Given the description of an element on the screen output the (x, y) to click on. 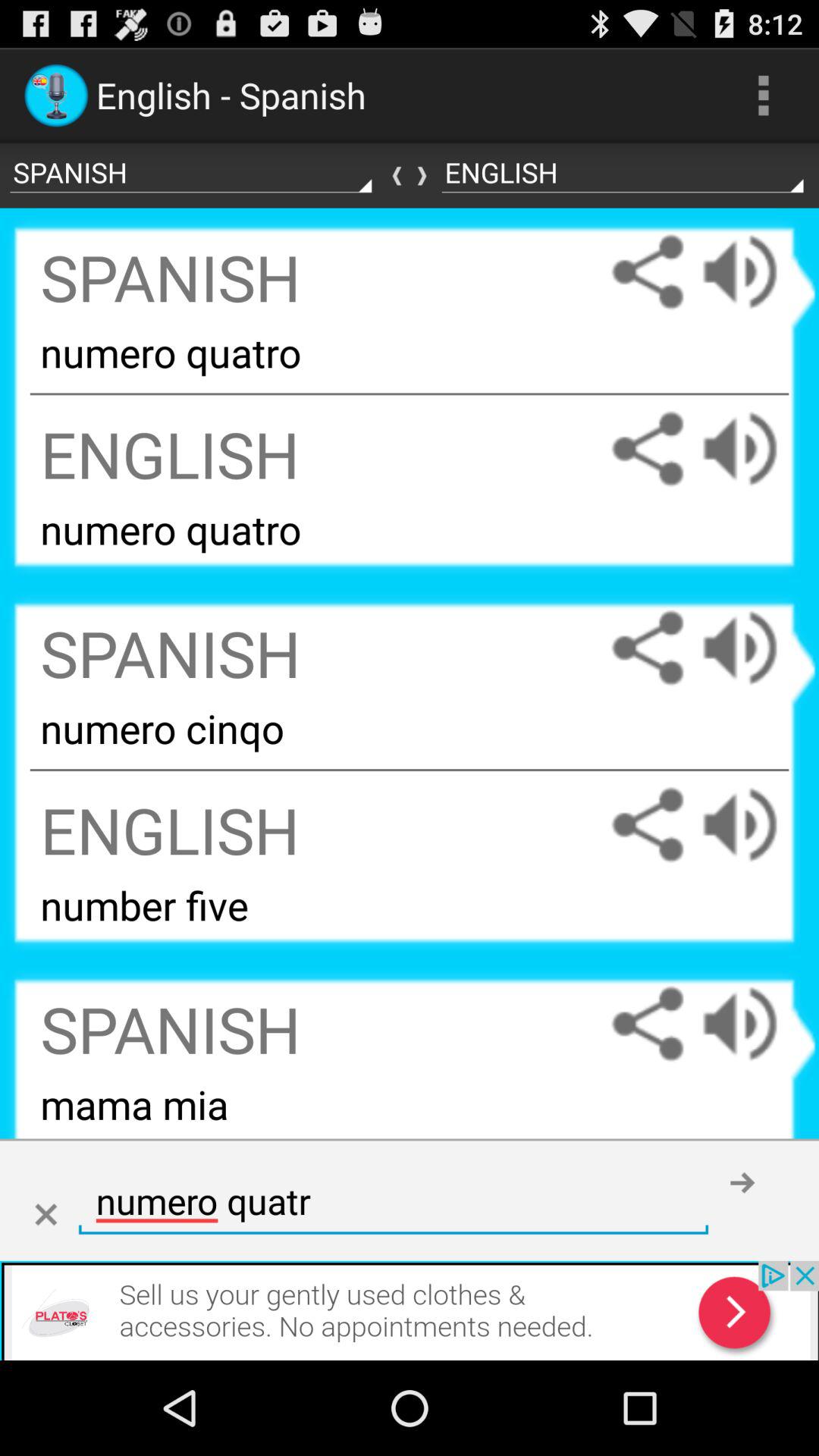
share the article (647, 1023)
